Given the description of an element on the screen output the (x, y) to click on. 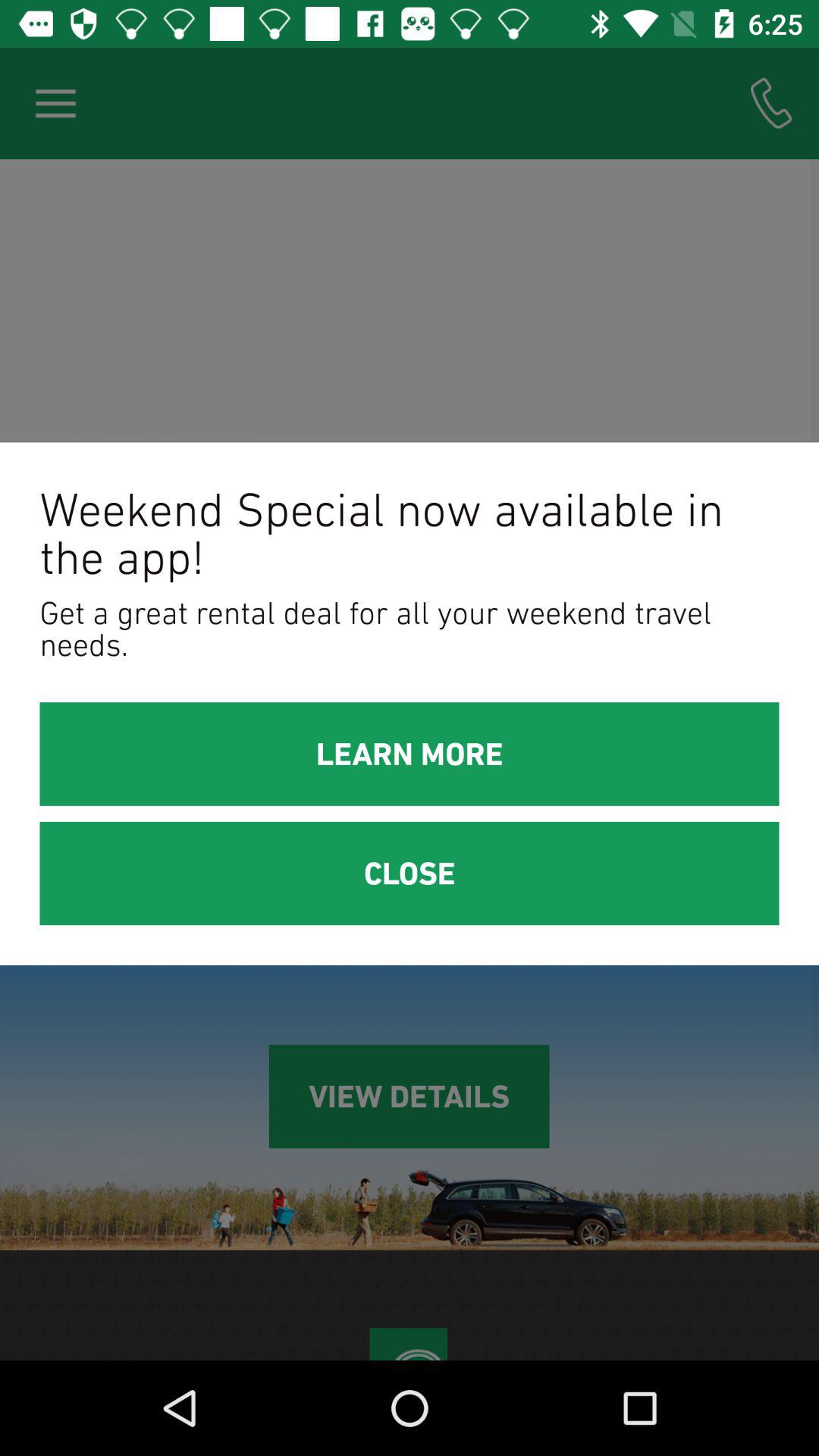
launch the learn more item (409, 753)
